Given the description of an element on the screen output the (x, y) to click on. 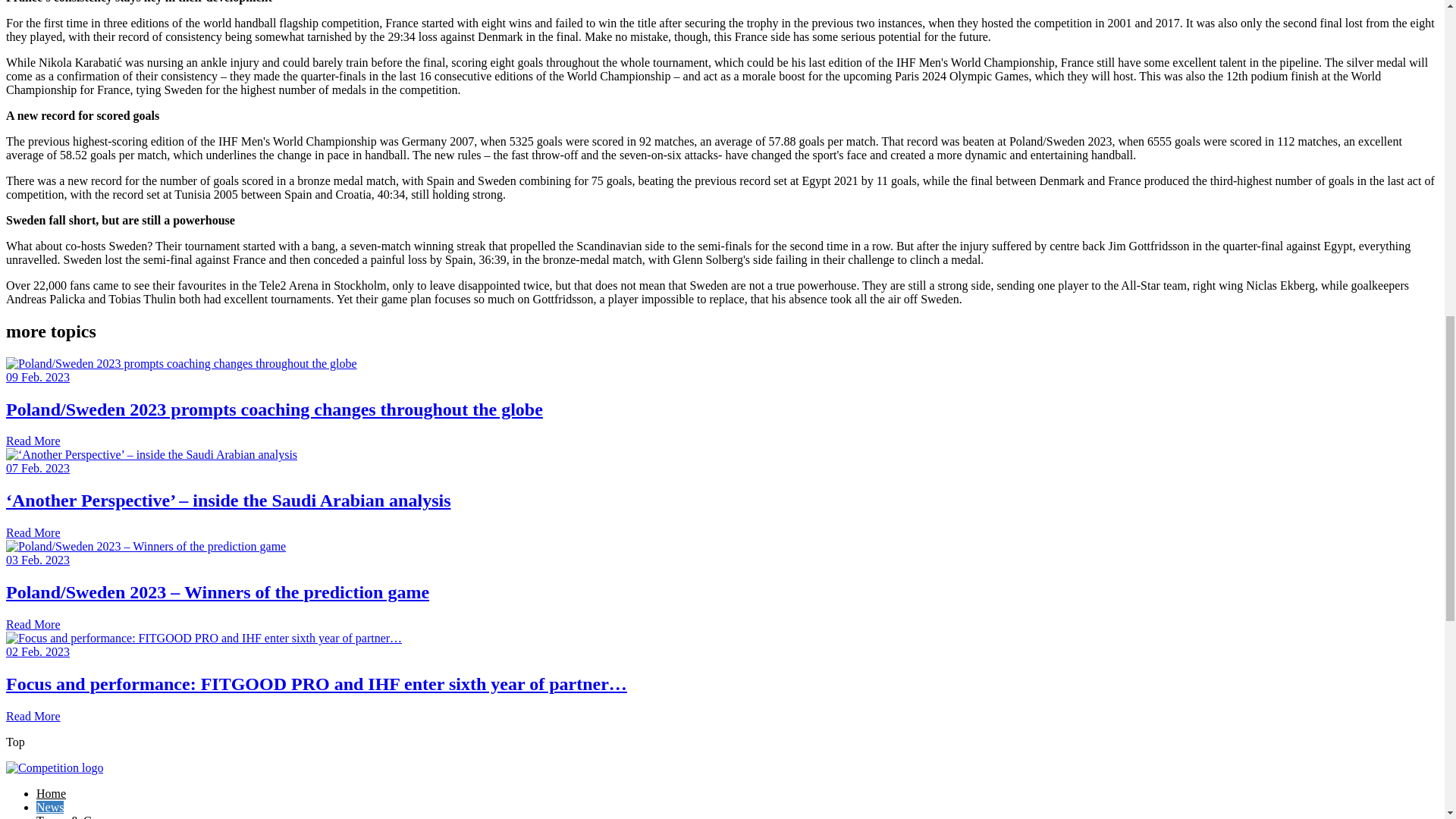
Read More (33, 440)
Read More (33, 532)
Read More (33, 624)
Read More (33, 716)
